Given the description of an element on the screen output the (x, y) to click on. 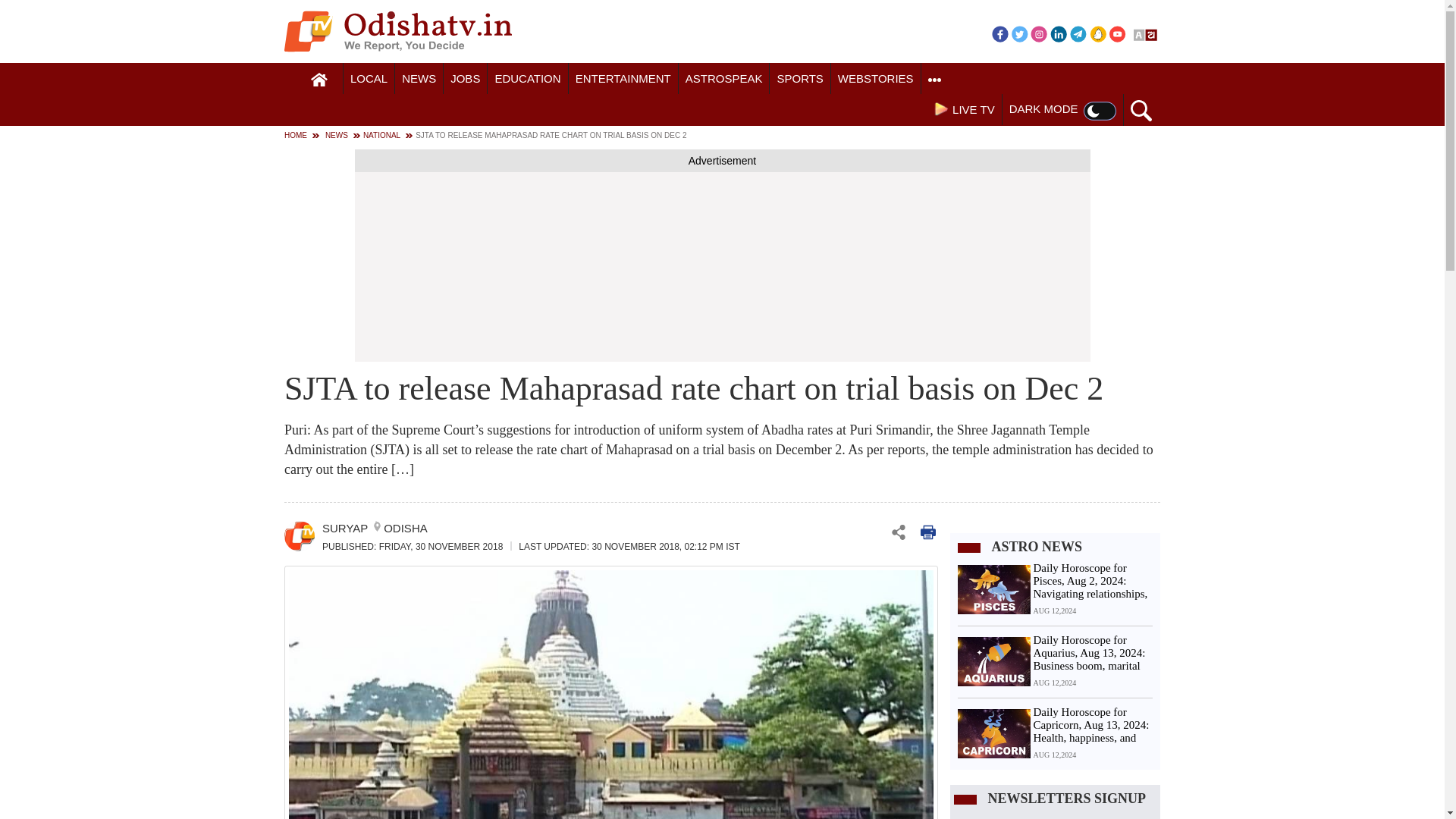
Youtube (1117, 33)
Home Icon (319, 79)
LOCAL (368, 78)
LinkedIn (1058, 33)
Telegram (1078, 33)
Koo (1097, 33)
EDUCATION (527, 78)
NEWS (418, 78)
Instagram (1038, 33)
News (418, 78)
